Given the description of an element on the screen output the (x, y) to click on. 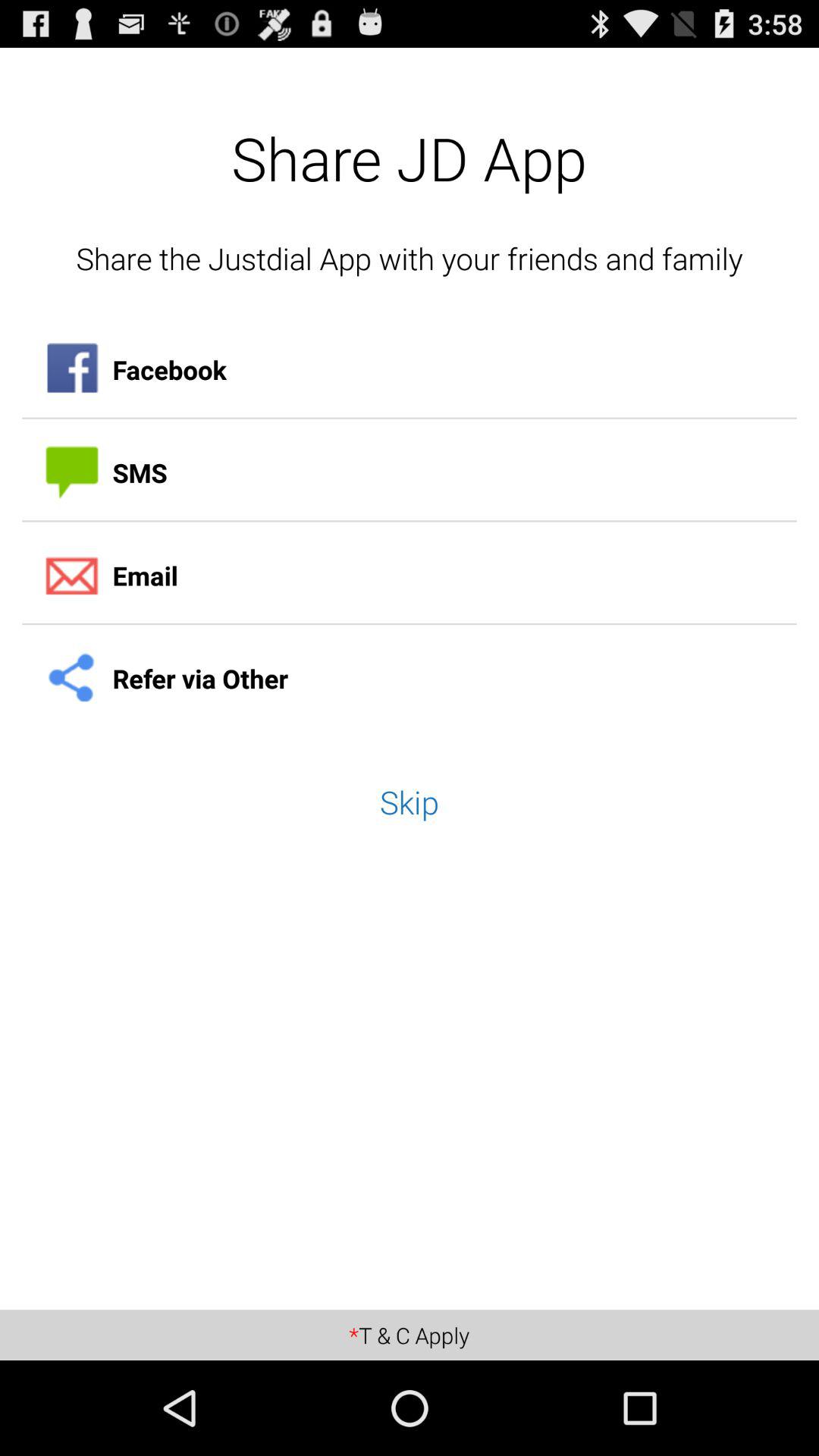
select the item above the refer via other icon (409, 575)
